Given the description of an element on the screen output the (x, y) to click on. 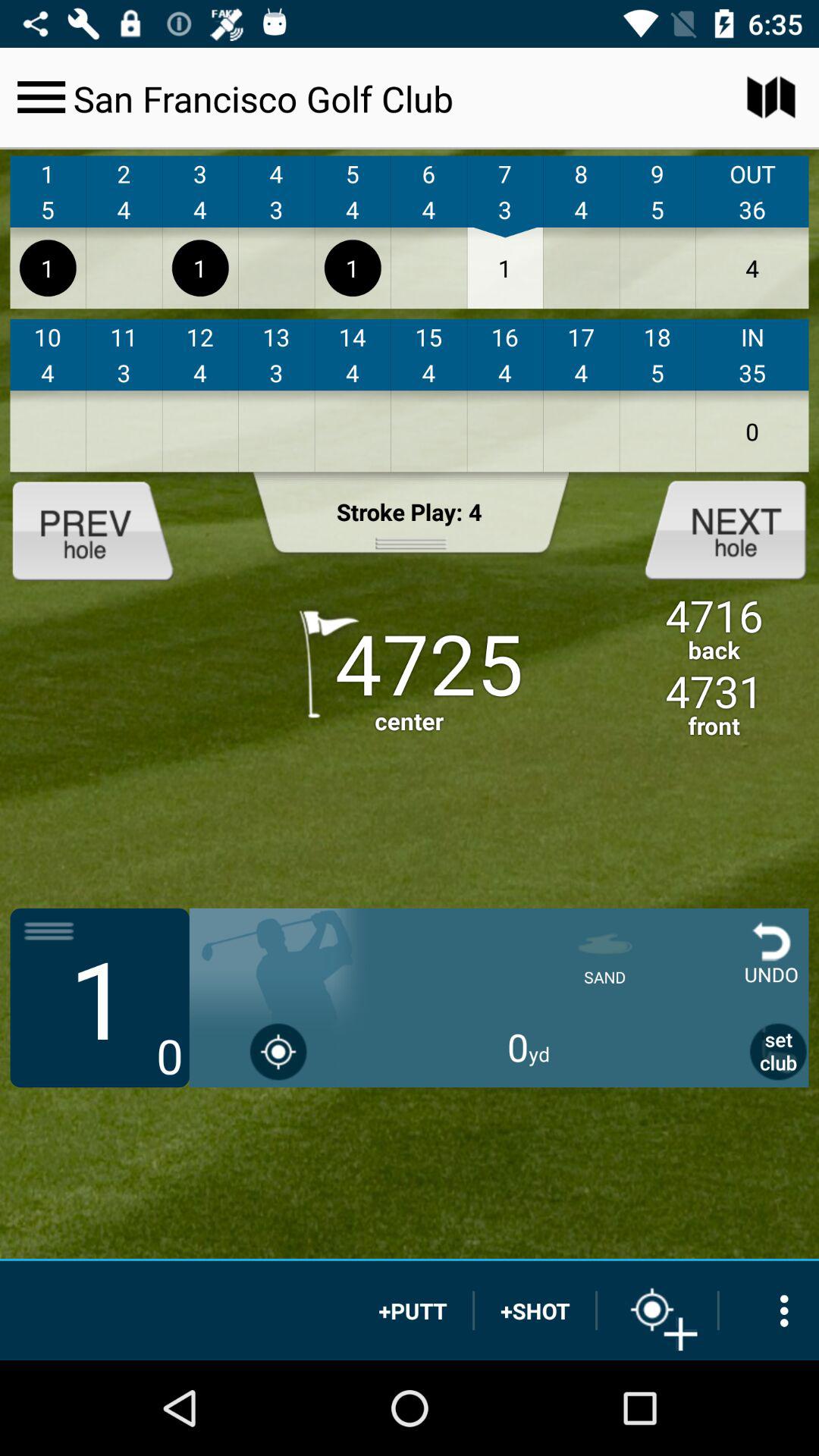
use gps location (278, 1051)
